Given the description of an element on the screen output the (x, y) to click on. 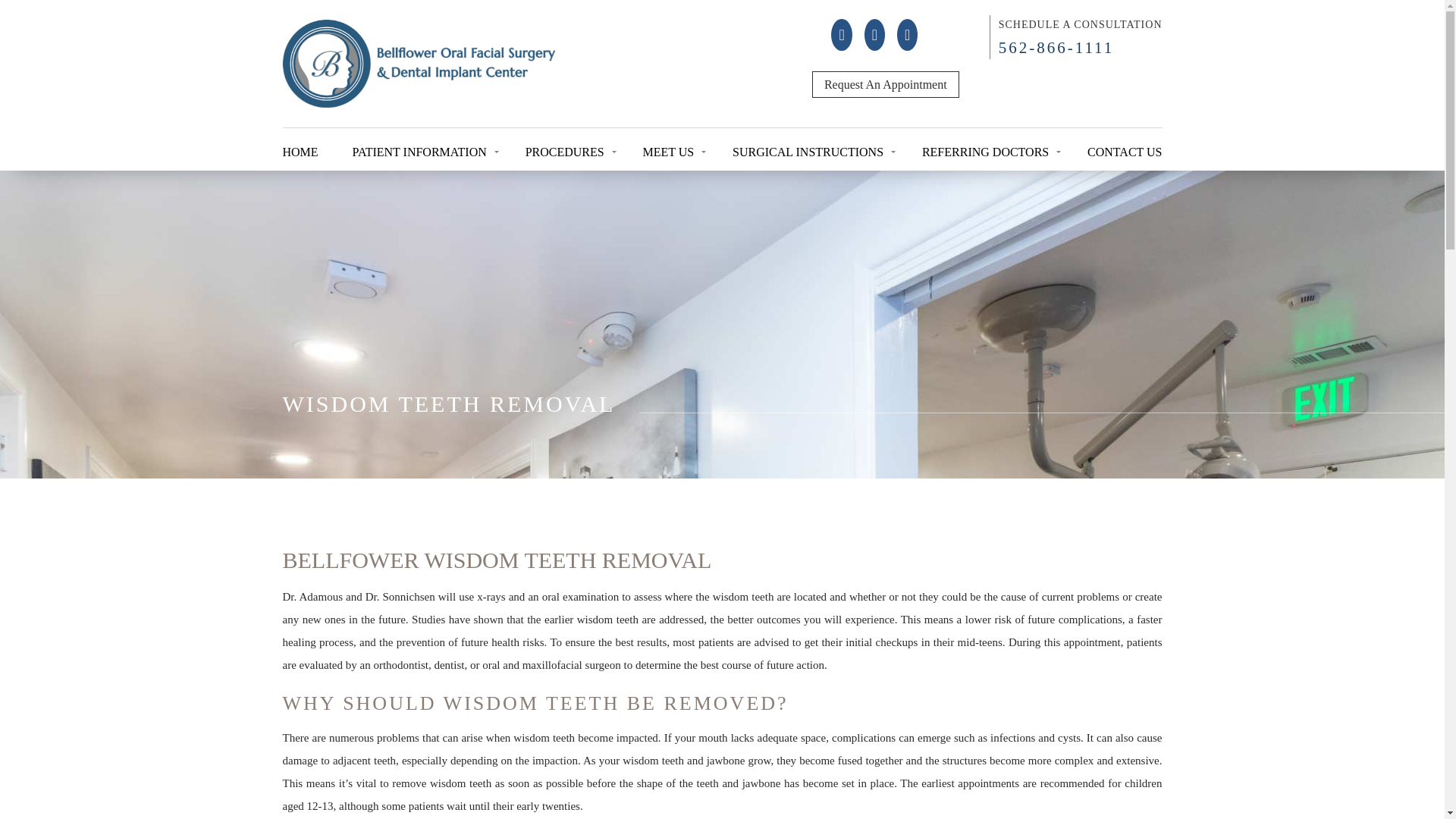
HOME (303, 154)
PROCEDURES (566, 154)
PATIENT INFORMATION (420, 154)
562-866-1111 (1056, 47)
SCHEDULE A CONSULTATION (1079, 24)
Request An Appointment (885, 84)
